Given the description of an element on the screen output the (x, y) to click on. 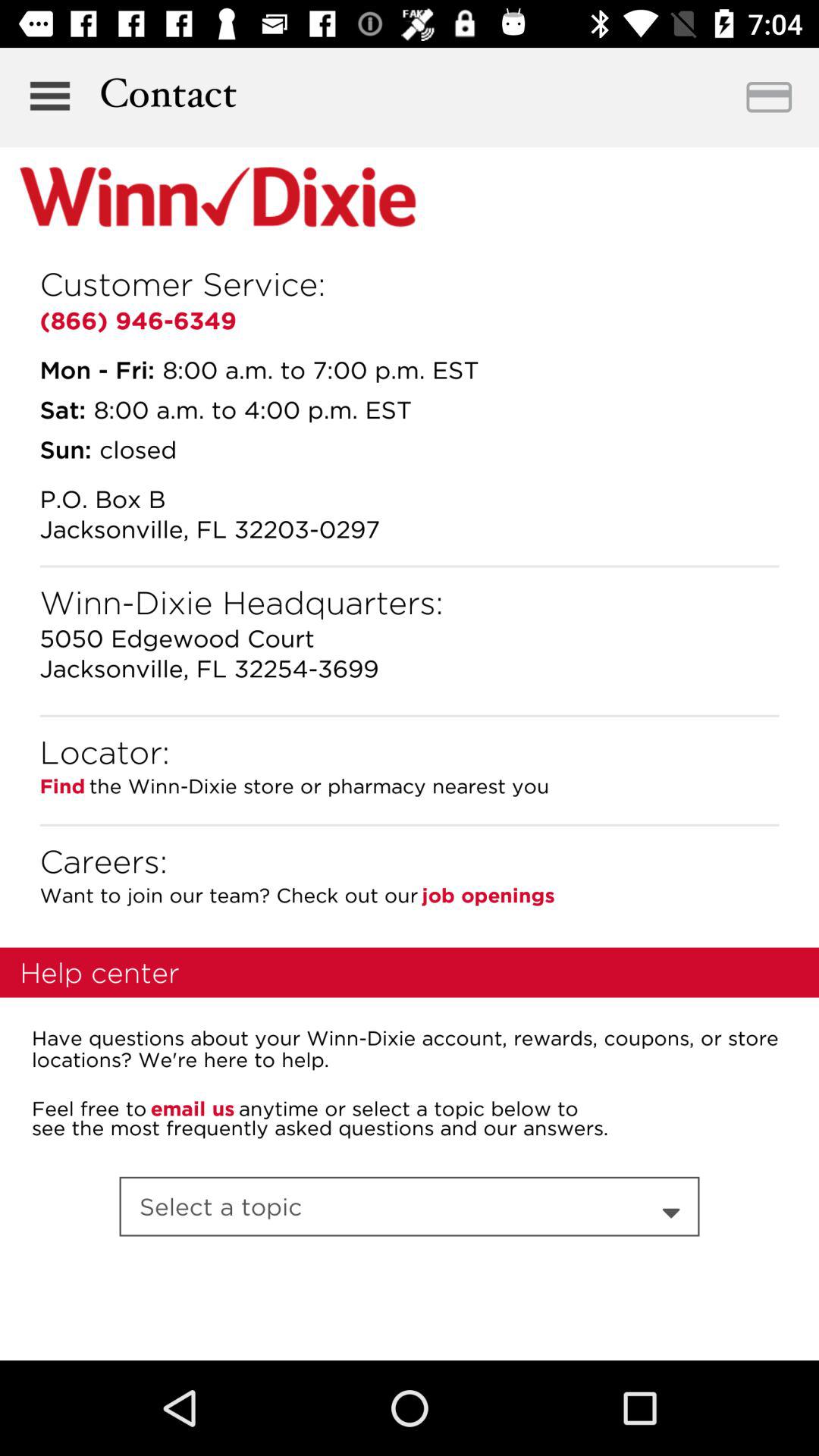
select the item next to the want to join item (488, 894)
